Given the description of an element on the screen output the (x, y) to click on. 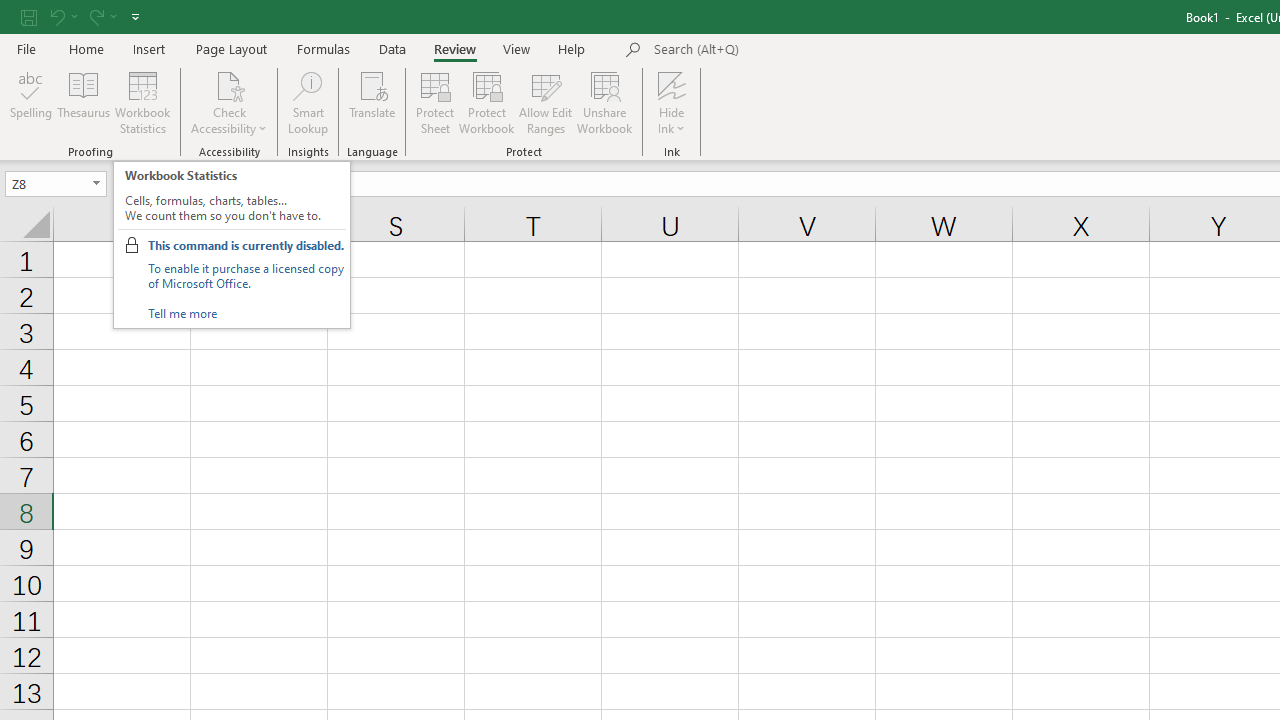
Unshare Workbook (604, 102)
